Given the description of an element on the screen output the (x, y) to click on. 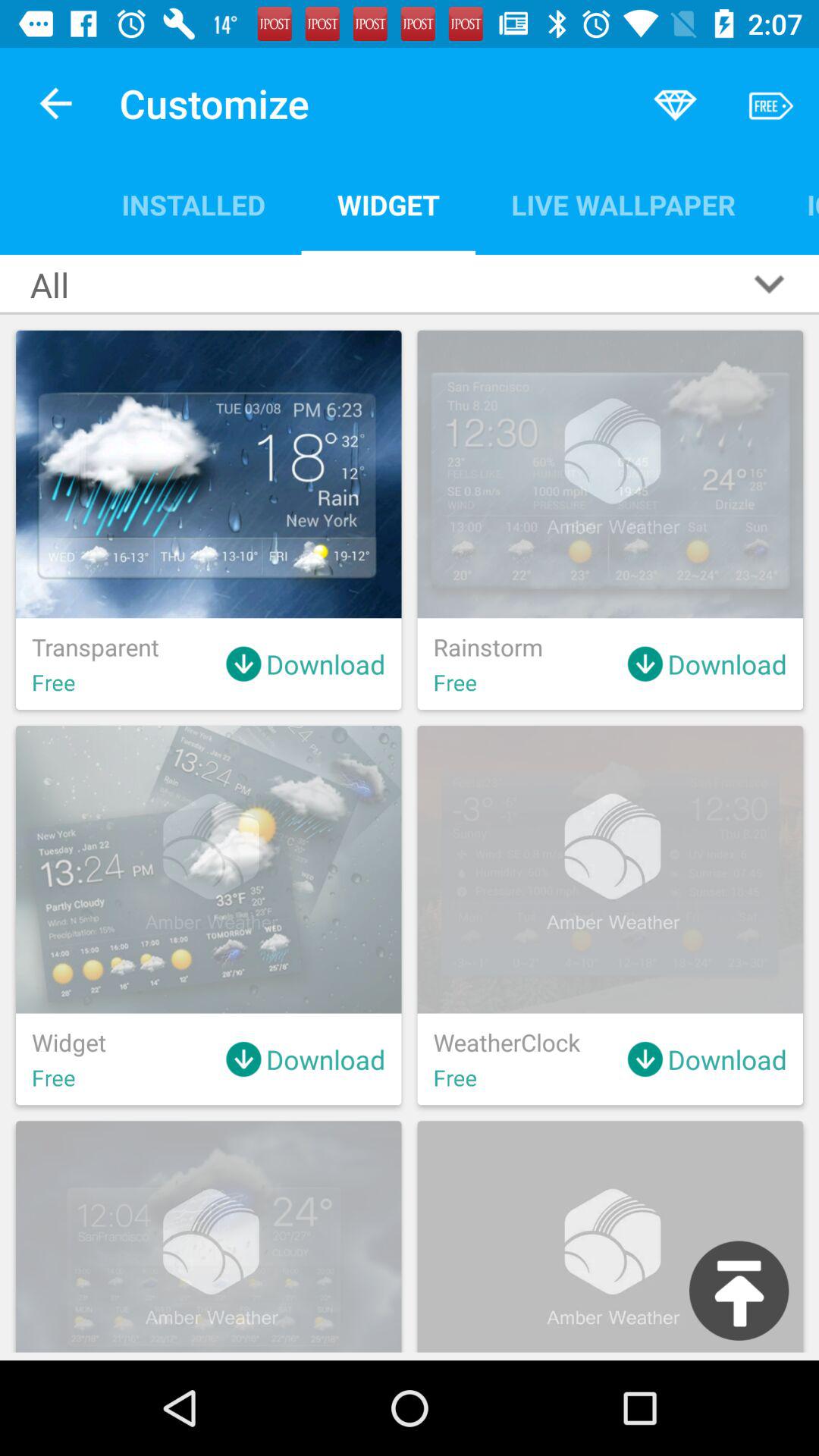
turn on the installed (193, 204)
